Given the description of an element on the screen output the (x, y) to click on. 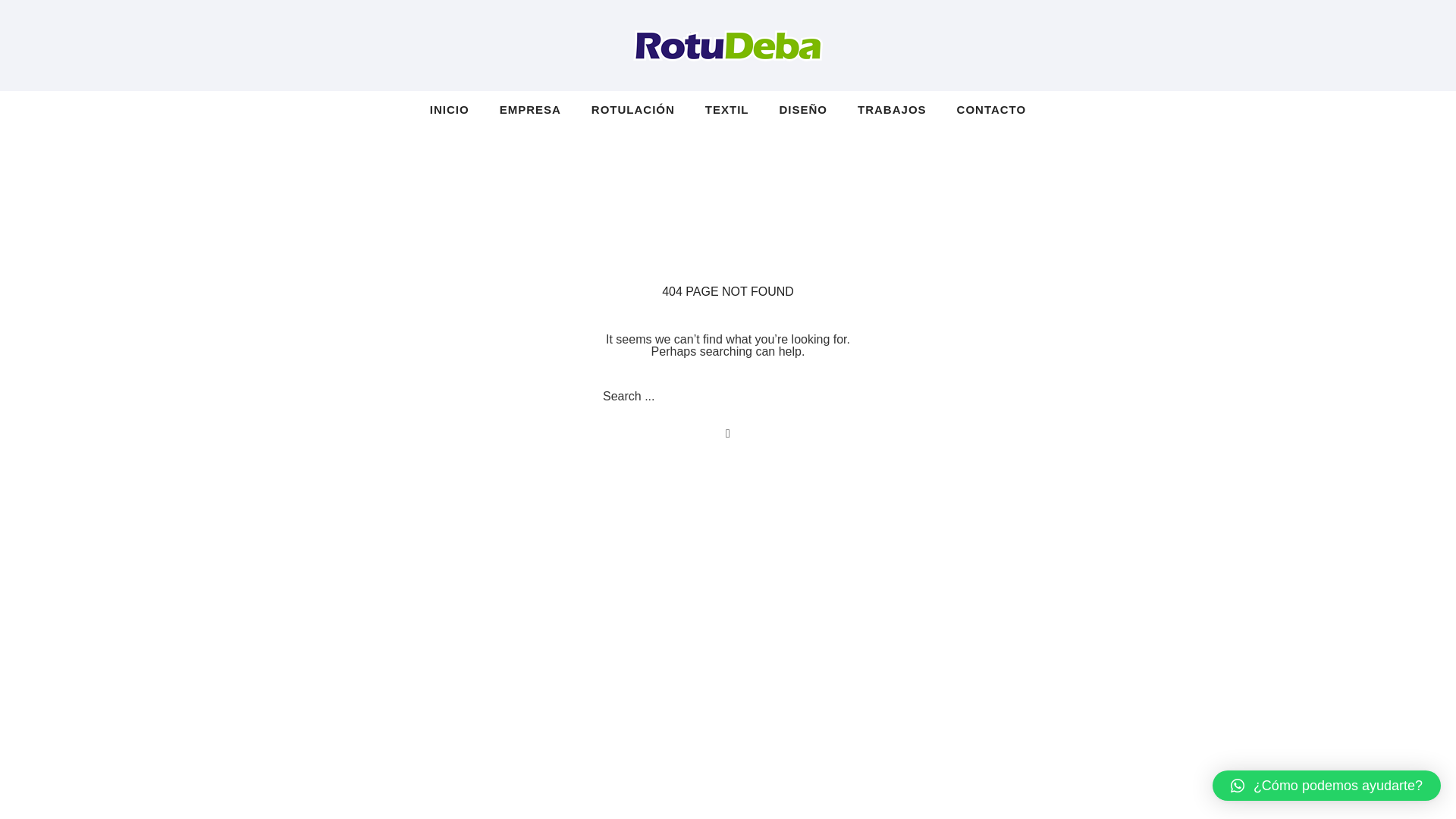
CONTACTO (984, 109)
TRABAJOS (892, 109)
EMPRESA (530, 109)
TEXTIL (727, 109)
INICIO (456, 109)
Trabajos (892, 109)
Contacto (984, 109)
Textil (727, 109)
Empresa (530, 109)
Inicio (456, 109)
